Given the description of an element on the screen output the (x, y) to click on. 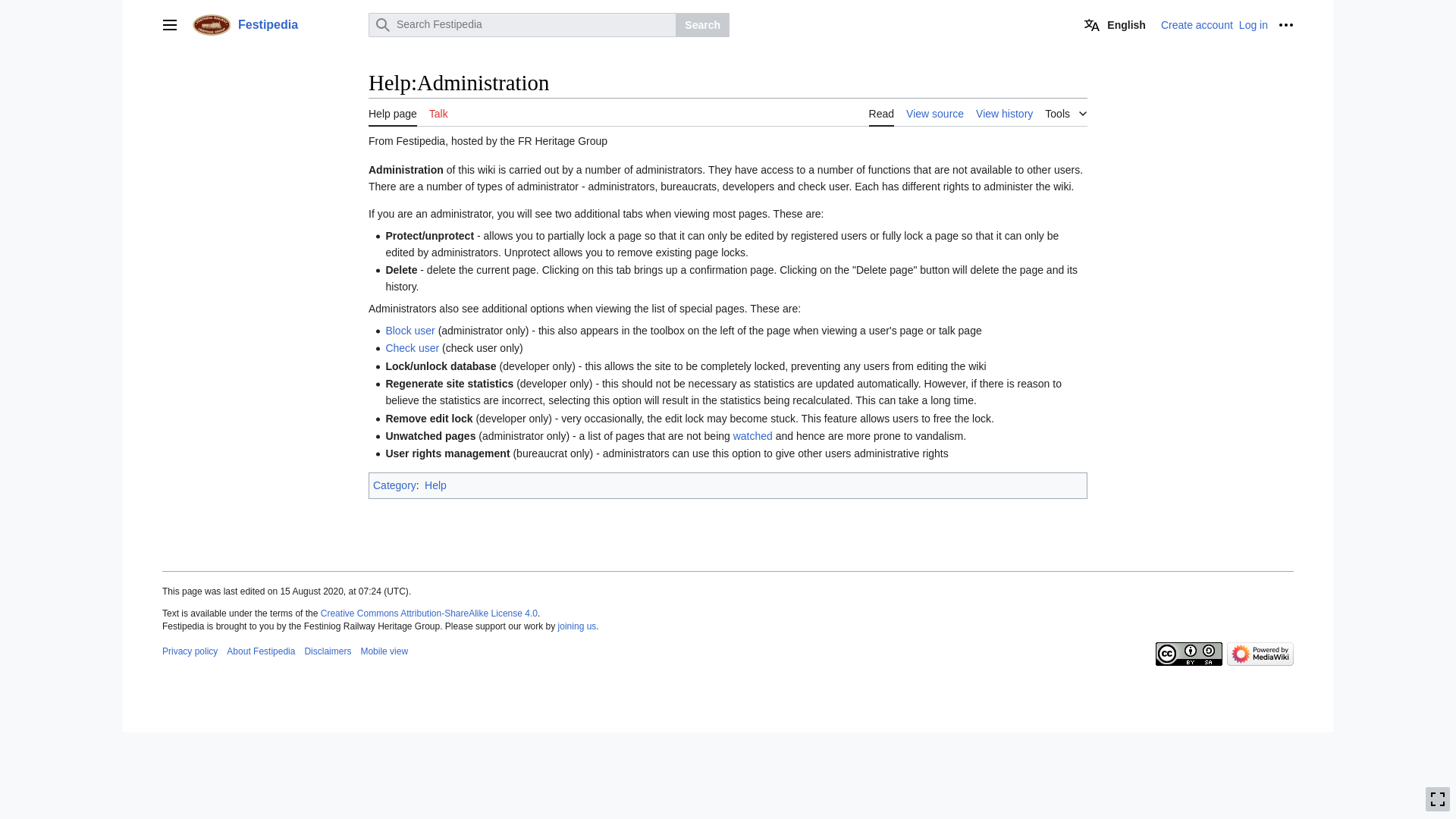
Read (881, 112)
Talk (438, 112)
Log in (1253, 24)
Log in and more options (1286, 24)
English (1114, 24)
Create account (1196, 24)
Help page (392, 112)
Search (702, 24)
Festipedia (276, 24)
View source (934, 112)
View history (1003, 112)
